Given the description of an element on the screen output the (x, y) to click on. 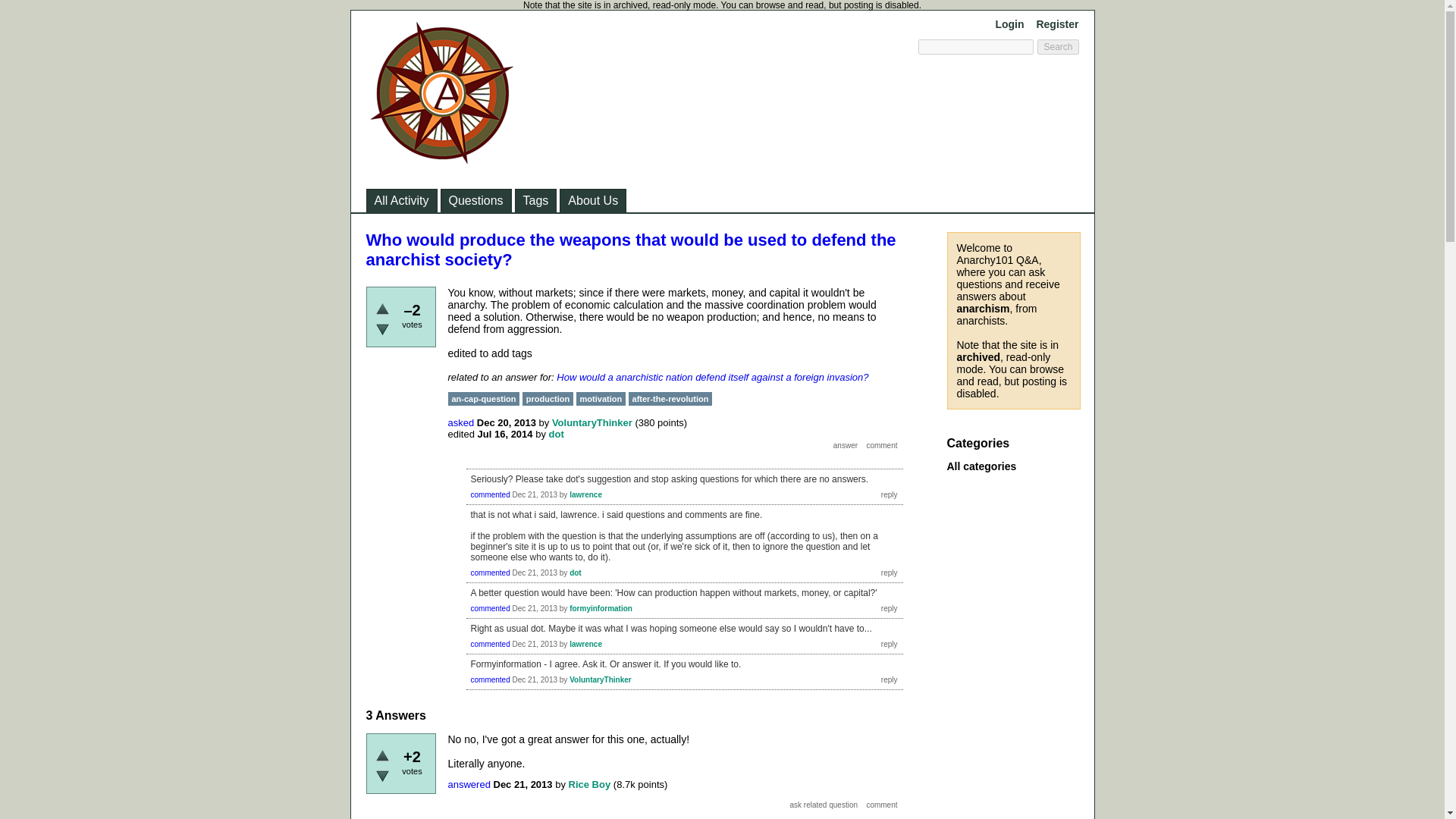
About Us (593, 200)
Reply to this comment (889, 608)
dot (556, 433)
commented (489, 643)
Register (1056, 24)
reply (889, 679)
commented (489, 494)
lawrence (585, 643)
answer (845, 445)
All categories (981, 466)
comment (881, 804)
reply (889, 494)
Tags (535, 200)
Reply to this comment (889, 494)
an-cap-question (482, 398)
